Given the description of an element on the screen output the (x, y) to click on. 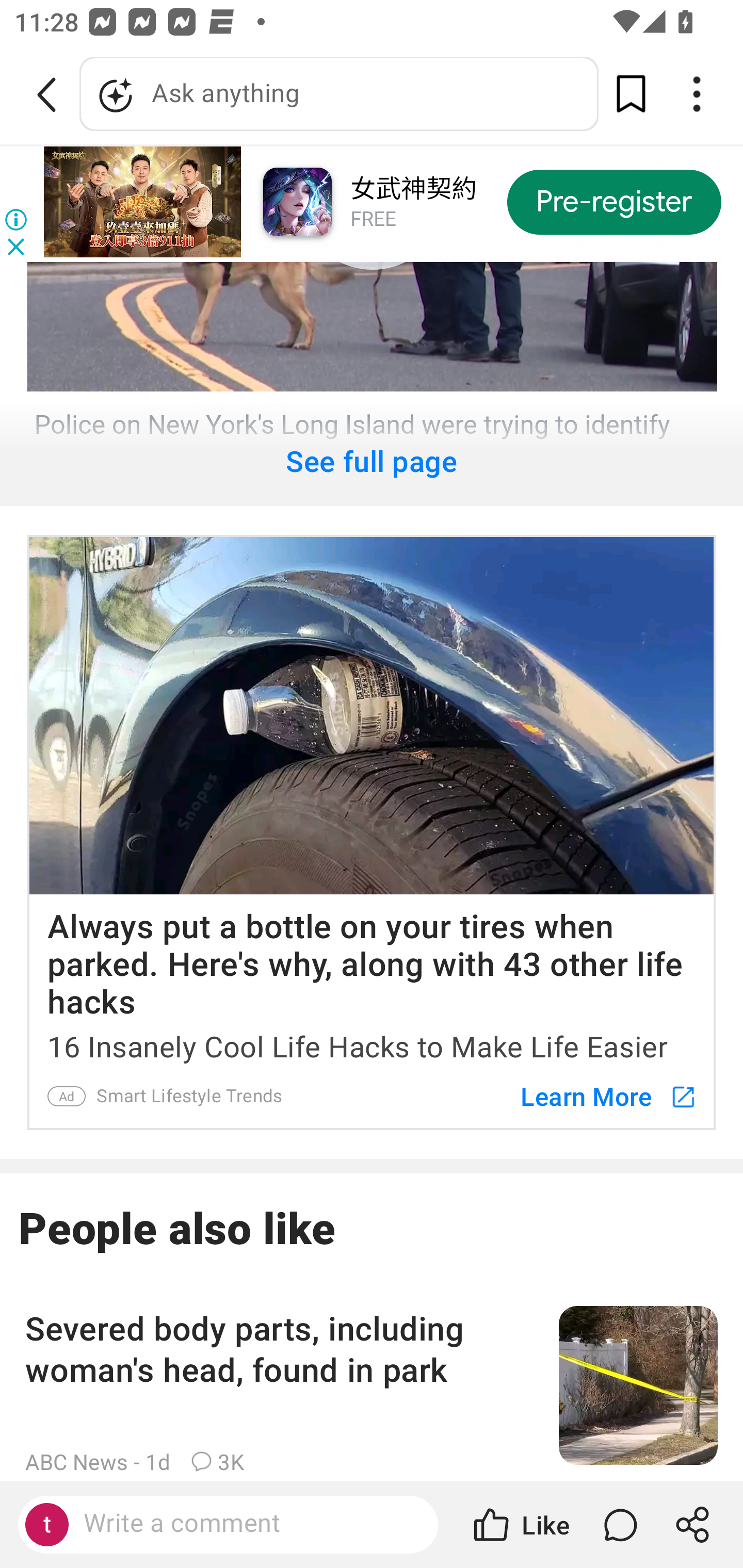
Ask anything (338, 93)
Pre-register (613, 201)
女武神契約 (412, 189)
FREE (372, 219)
See full page (371, 452)
16 Insanely Cool Life Hacks to Make Life Easier (371, 1042)
Learn More (598, 1095)
Smart Lifestyle Trends (189, 1096)
Like (519, 1524)
Write a comment (245, 1523)
